Given the description of an element on the screen output the (x, y) to click on. 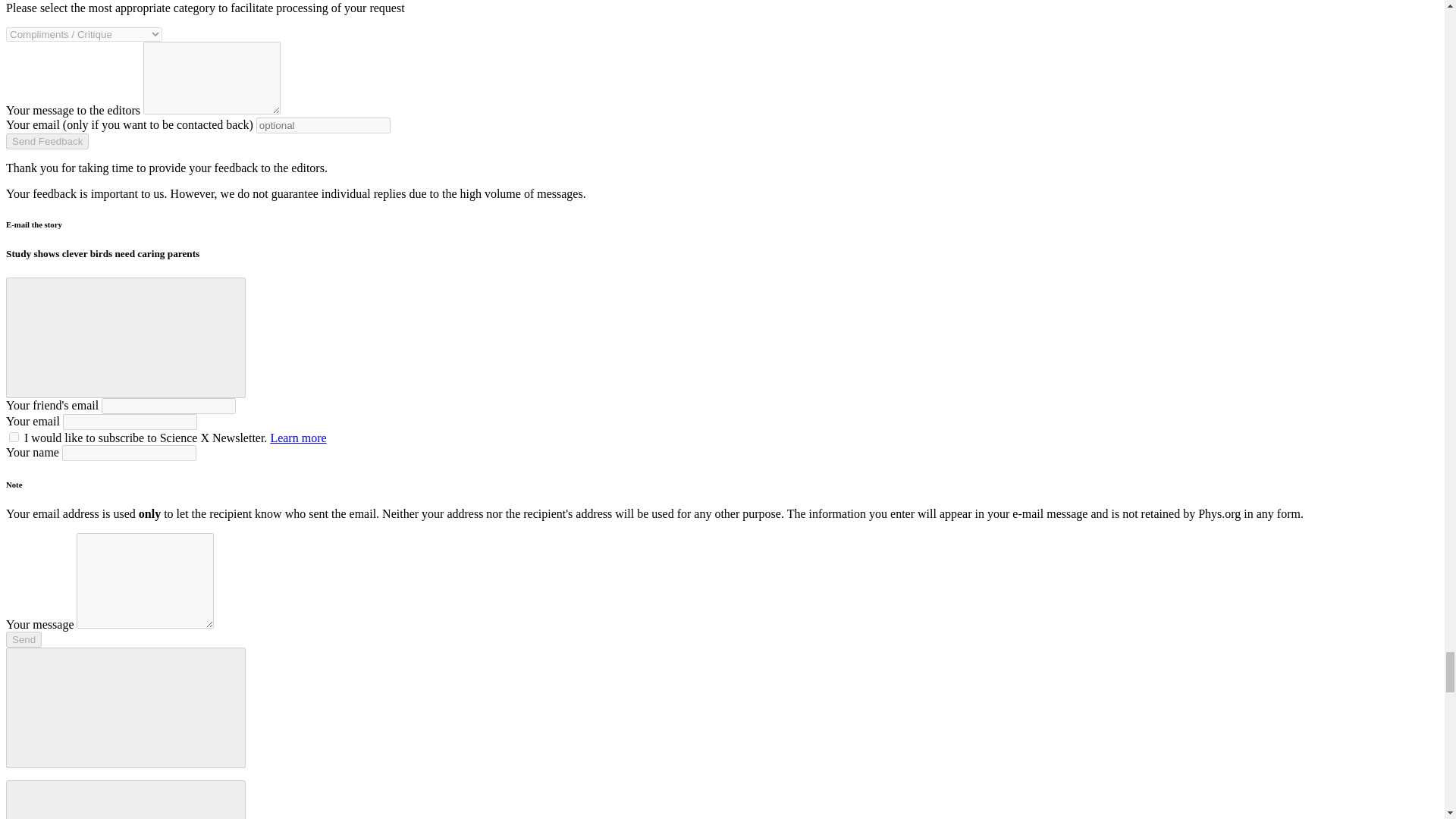
1 (13, 437)
